Given the description of an element on the screen output the (x, y) to click on. 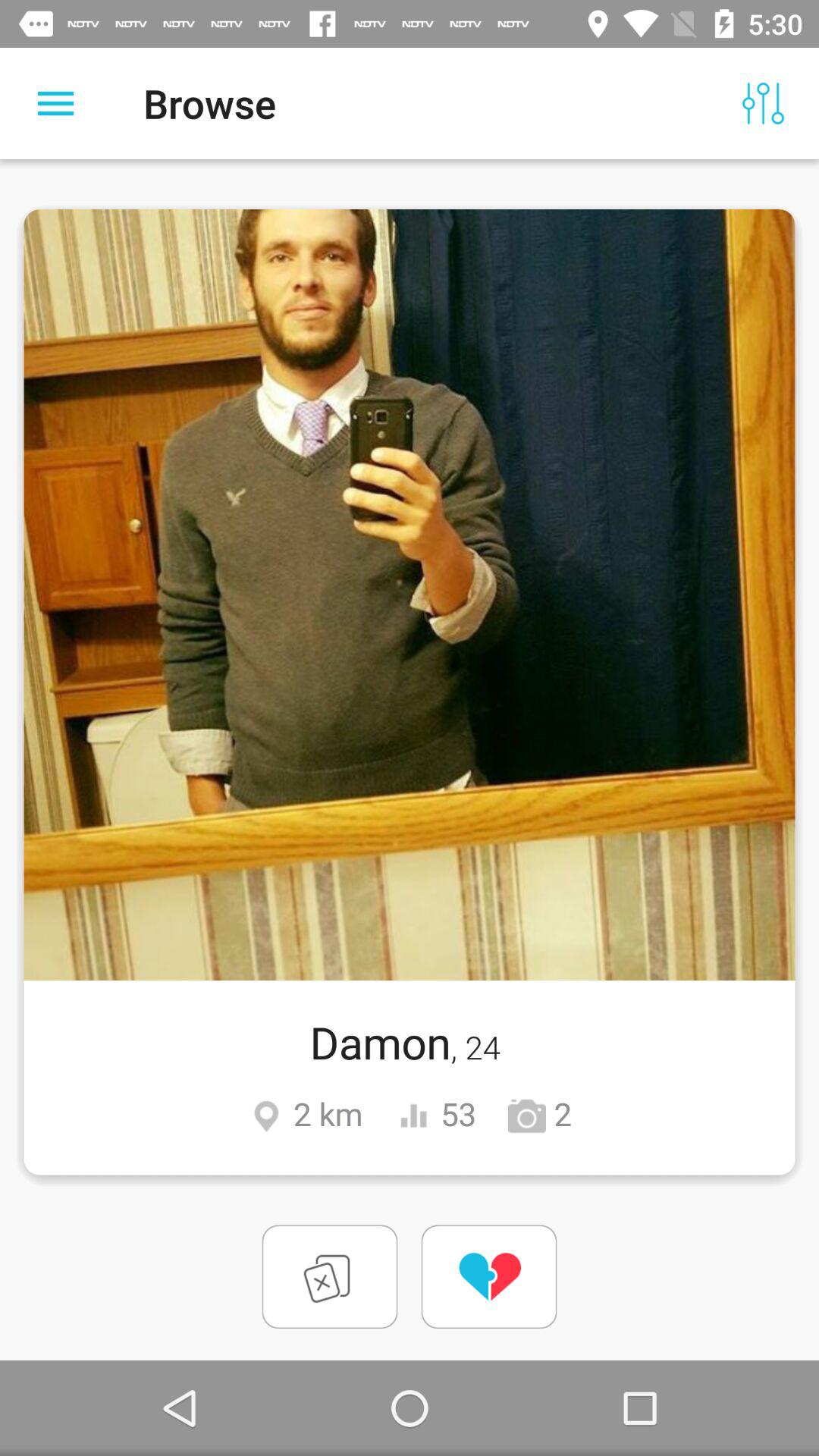
more tools option (55, 103)
